Given the description of an element on the screen output the (x, y) to click on. 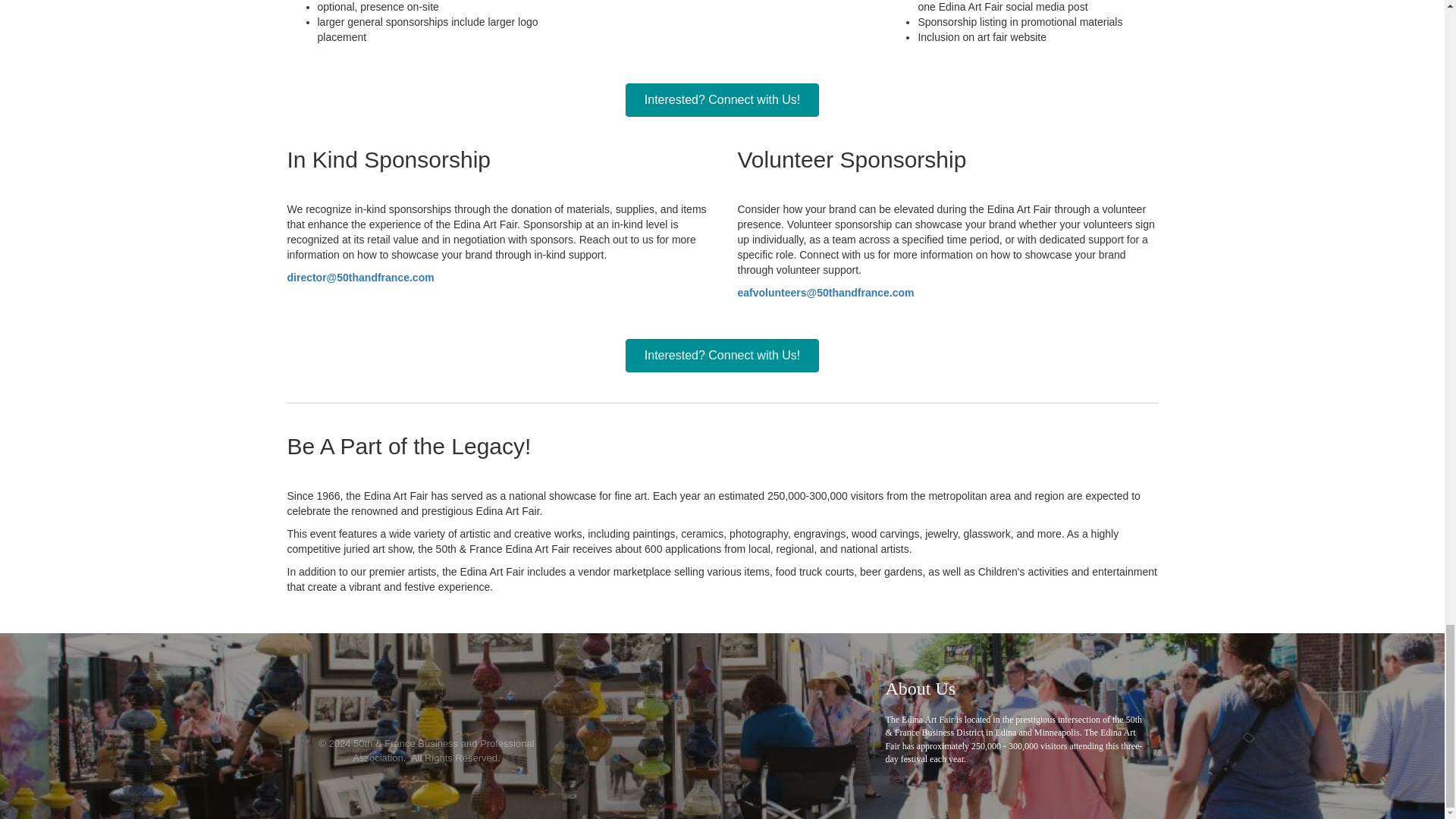
logo-edina-art-fair-wh (426, 696)
Interested? Connect with Us! (722, 355)
Interested? Connect with Us! (722, 100)
